Given the description of an element on the screen output the (x, y) to click on. 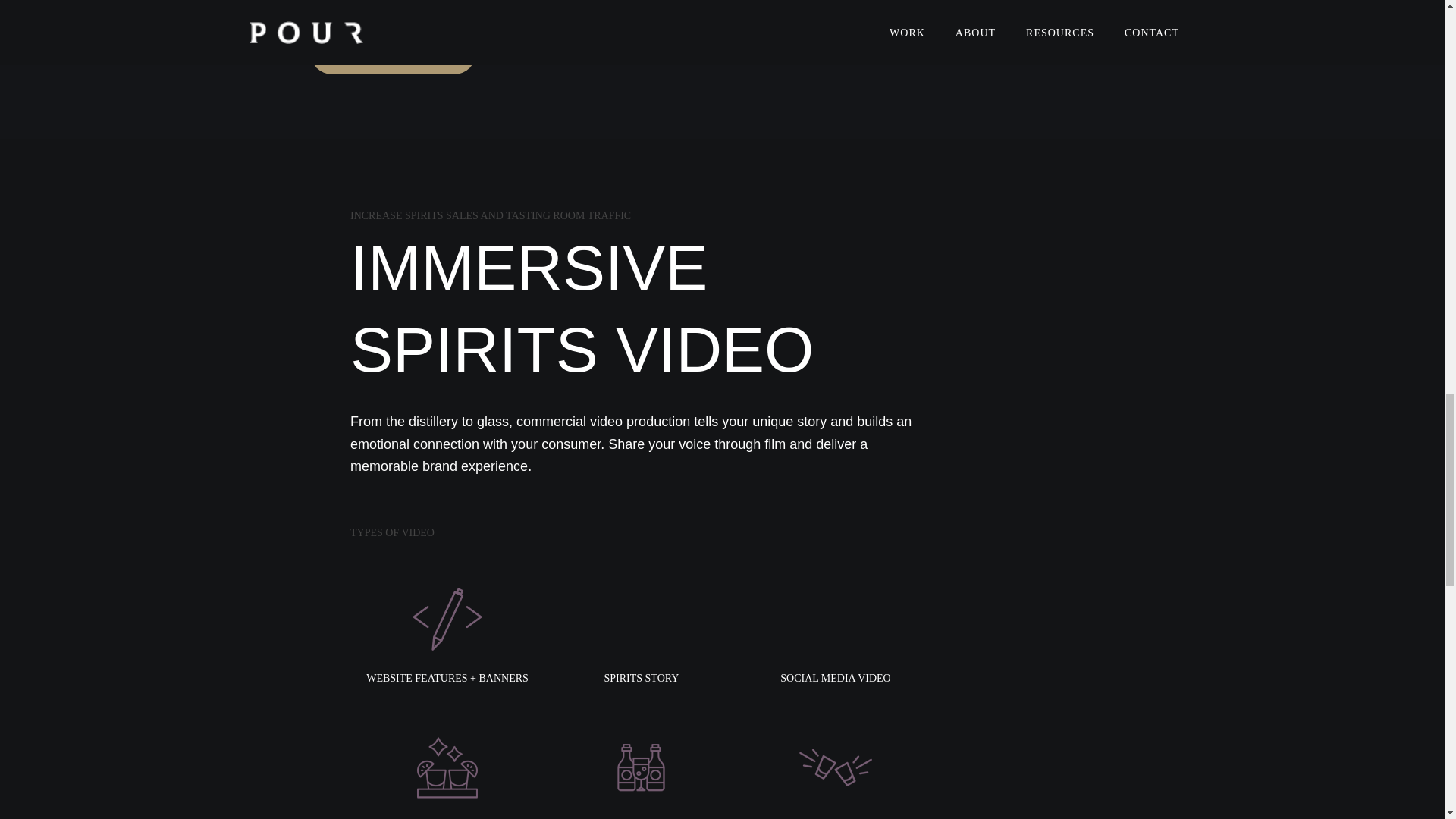
SEE CASE STUDY (393, 52)
